Given the description of an element on the screen output the (x, y) to click on. 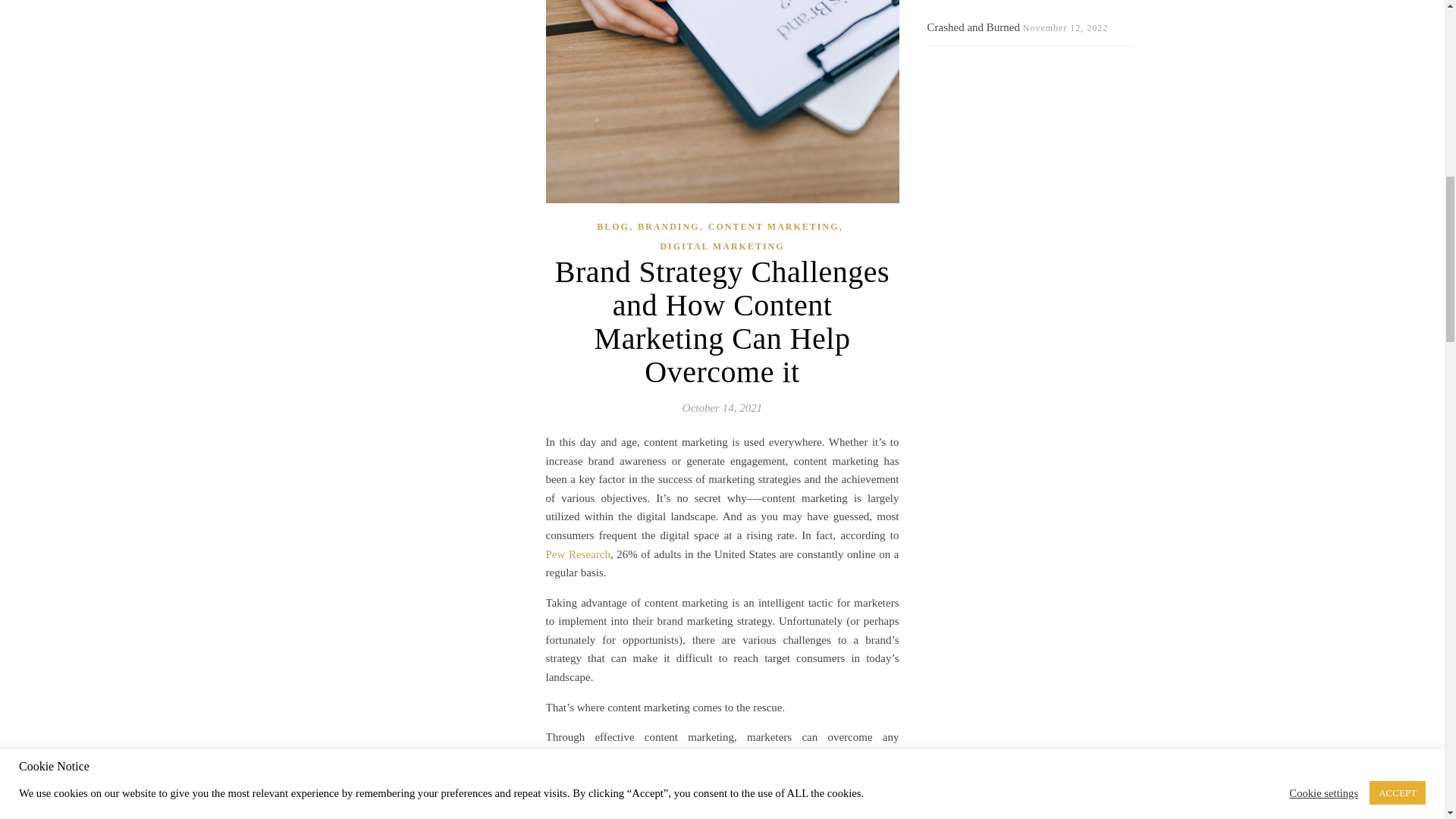
BRANDING (667, 226)
BLOG (612, 226)
Pew Research (578, 553)
DIGITAL MARKETING (721, 246)
CONTENT MARKETING (773, 226)
